Given the description of an element on the screen output the (x, y) to click on. 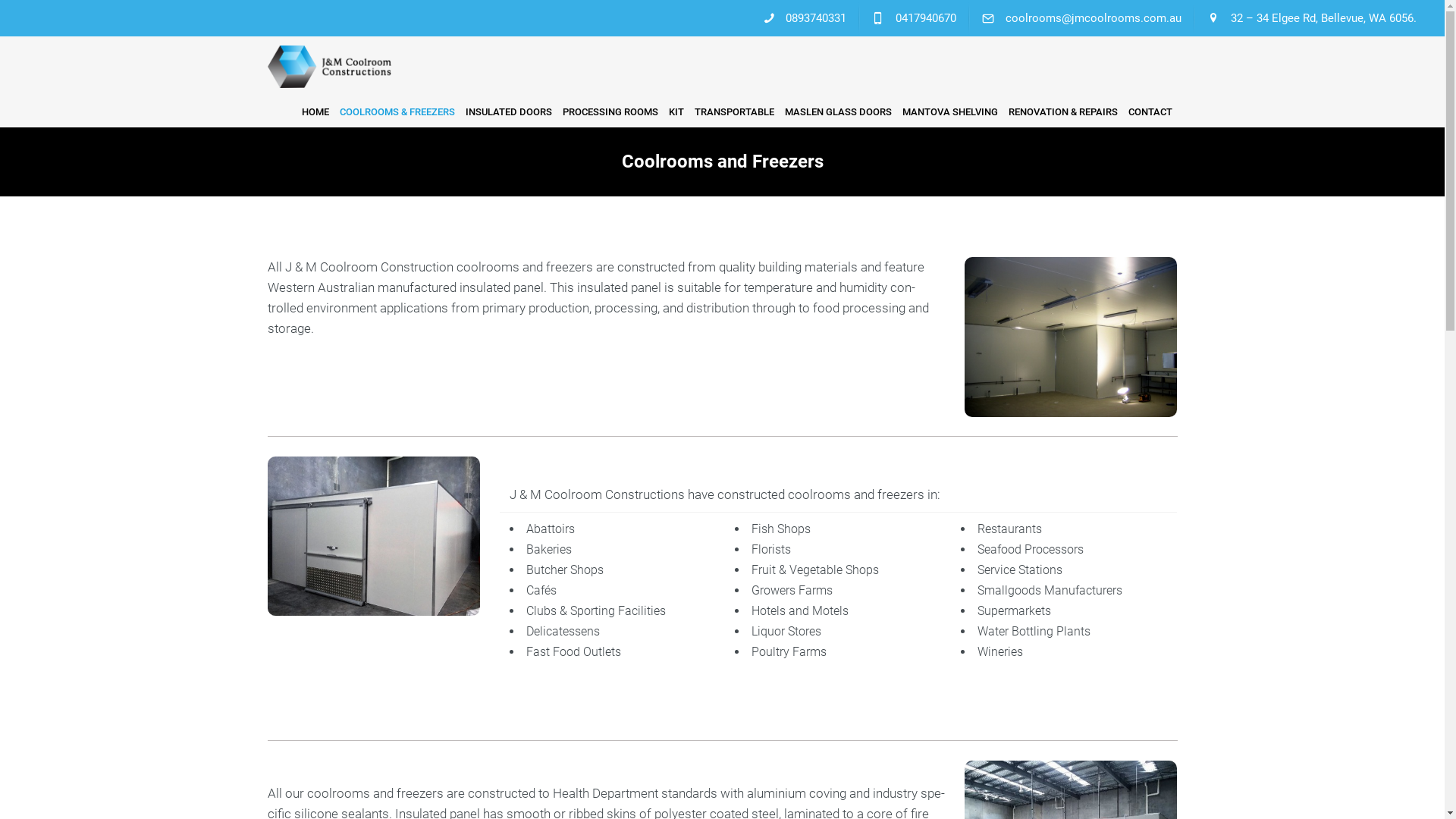
KIT Element type: text (675, 112)
0417940670 Element type: text (914, 18)
PROCESSING ROOMS Element type: text (609, 112)
MANTOVA SHELVING Element type: text (949, 112)
MASLEN GLASS DOORS Element type: text (838, 112)
0893740331 Element type: text (804, 18)
CONTACT Element type: text (1149, 112)
COOLROOMS & FREEZERS Element type: text (396, 112)
TRANSPORTABLE Element type: text (733, 112)
JM Coolrooms Element type: hover (721, 66)
coolrooms@jmcoolrooms.com.au Element type: text (1081, 18)
INSULATED DOORS Element type: text (507, 112)
HOME Element type: text (314, 112)
RENOVATION & REPAIRS Element type: text (1062, 112)
